Given the description of an element on the screen output the (x, y) to click on. 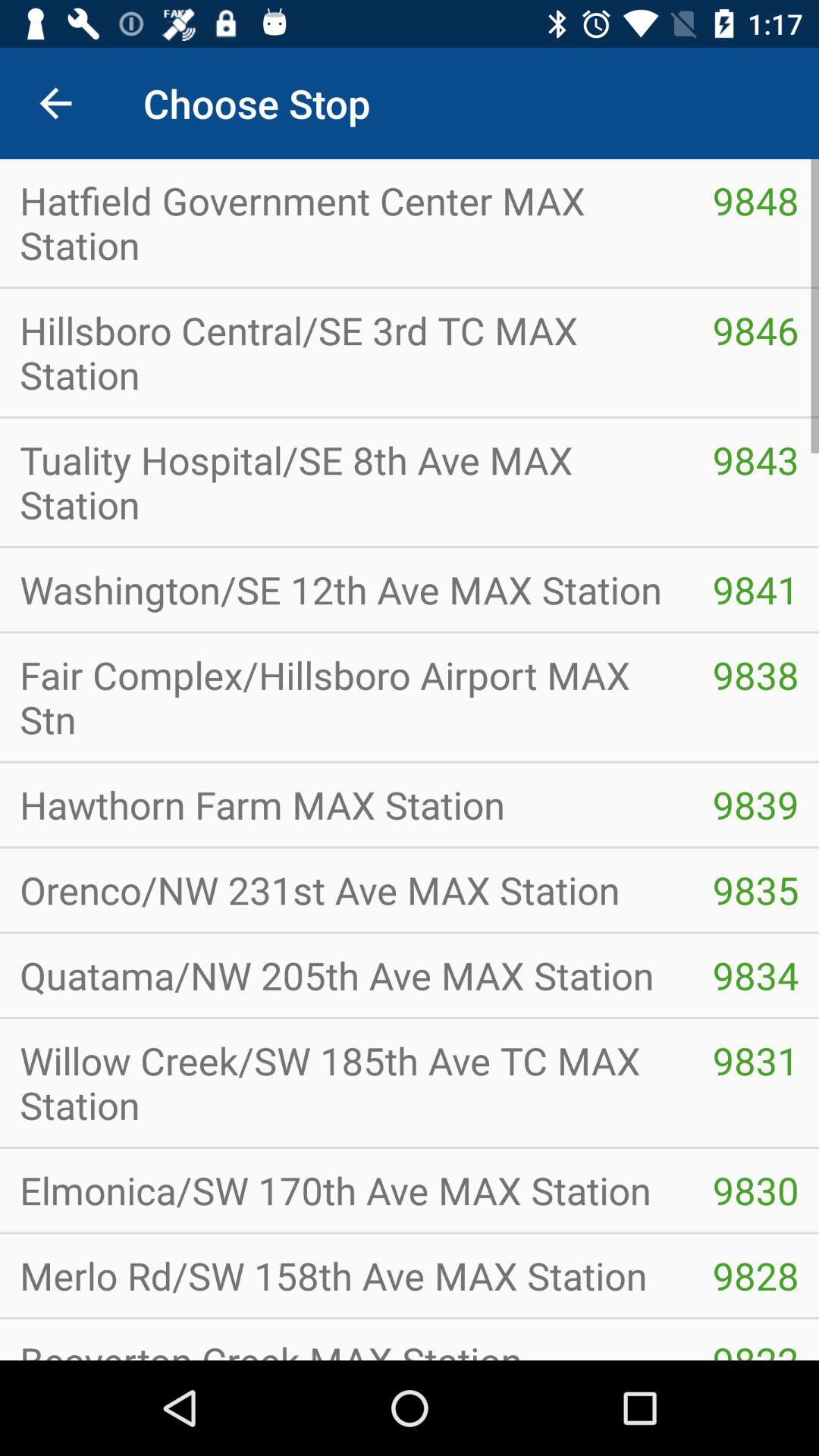
jump to the elmonica sw 170th item (346, 1189)
